Given the description of an element on the screen output the (x, y) to click on. 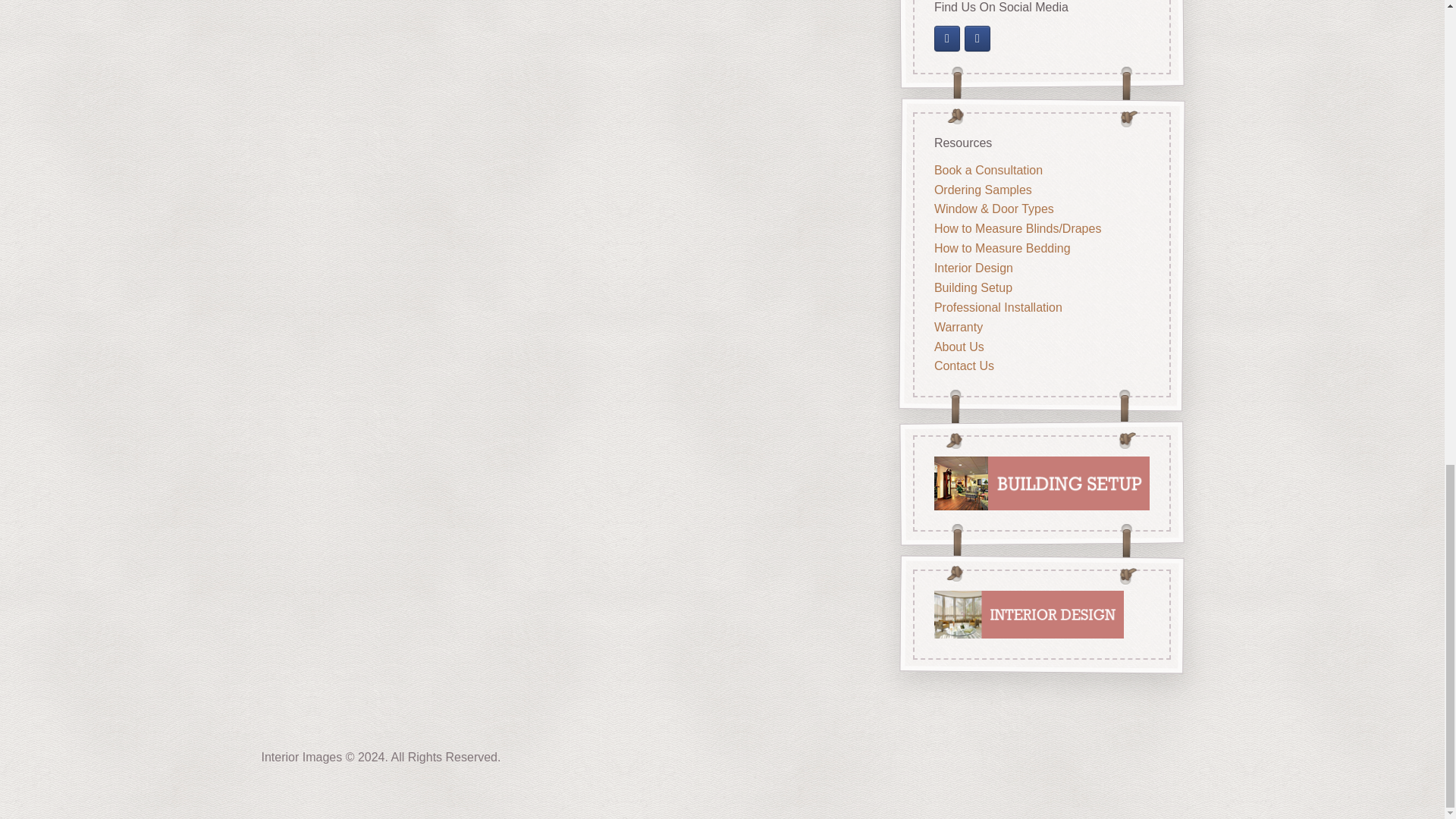
Interior Images on Facebook (946, 38)
Interior Images Brandon (976, 38)
